Given the description of an element on the screen output the (x, y) to click on. 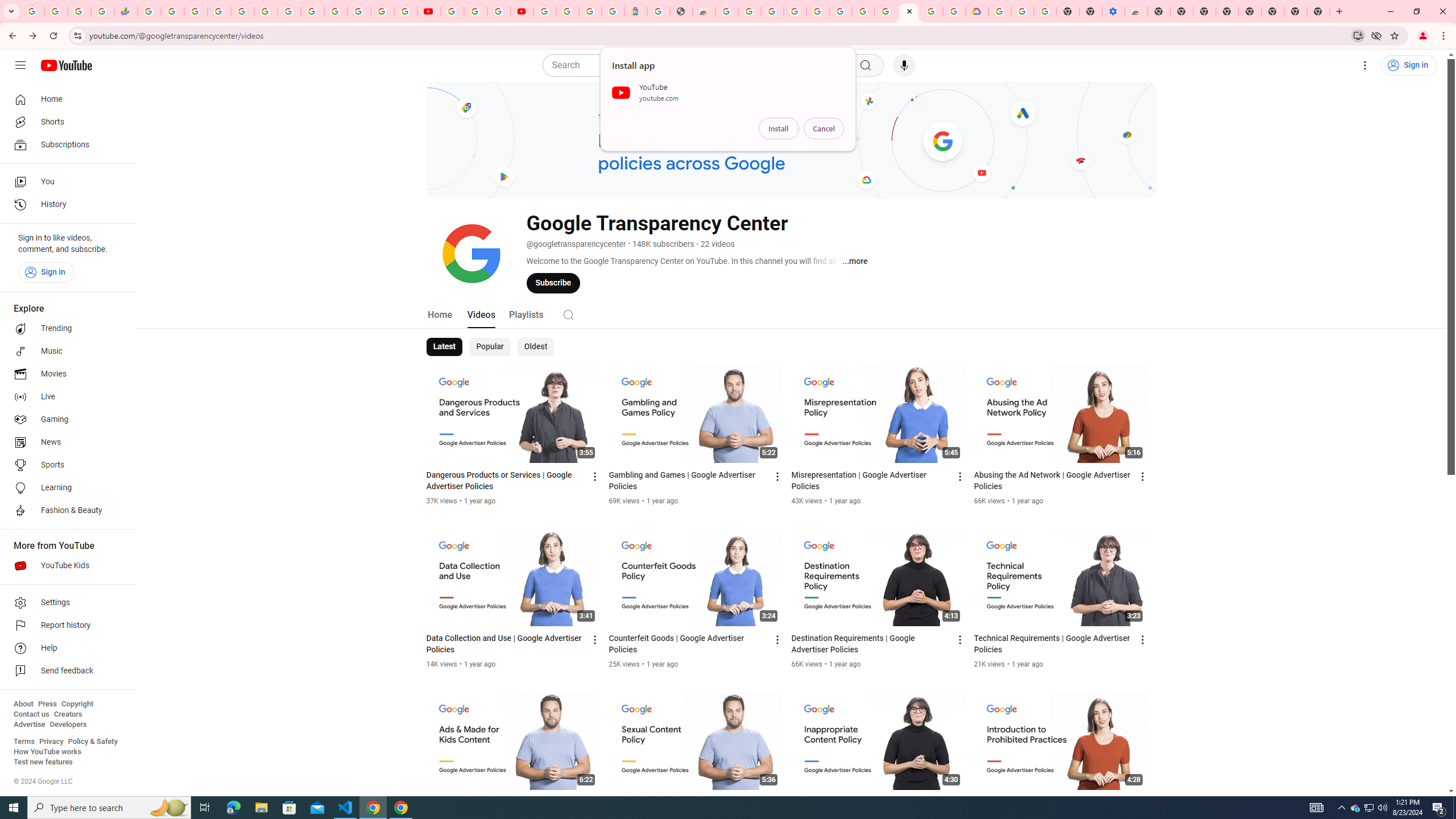
Content Creator Programs & Opportunities - YouTube Creators (521, 11)
Developers (68, 724)
Android TV Policies and Guidelines - Transparency Center (885, 11)
Google Account Help (1022, 11)
Fashion & Beauty (64, 510)
Policy & Safety (91, 741)
Test new features (42, 761)
Movies (64, 373)
Install YouTube (1358, 35)
Settings - Accessibility (1113, 11)
Oldest (534, 346)
Sign in - Google Accounts (567, 11)
